Given the description of an element on the screen output the (x, y) to click on. 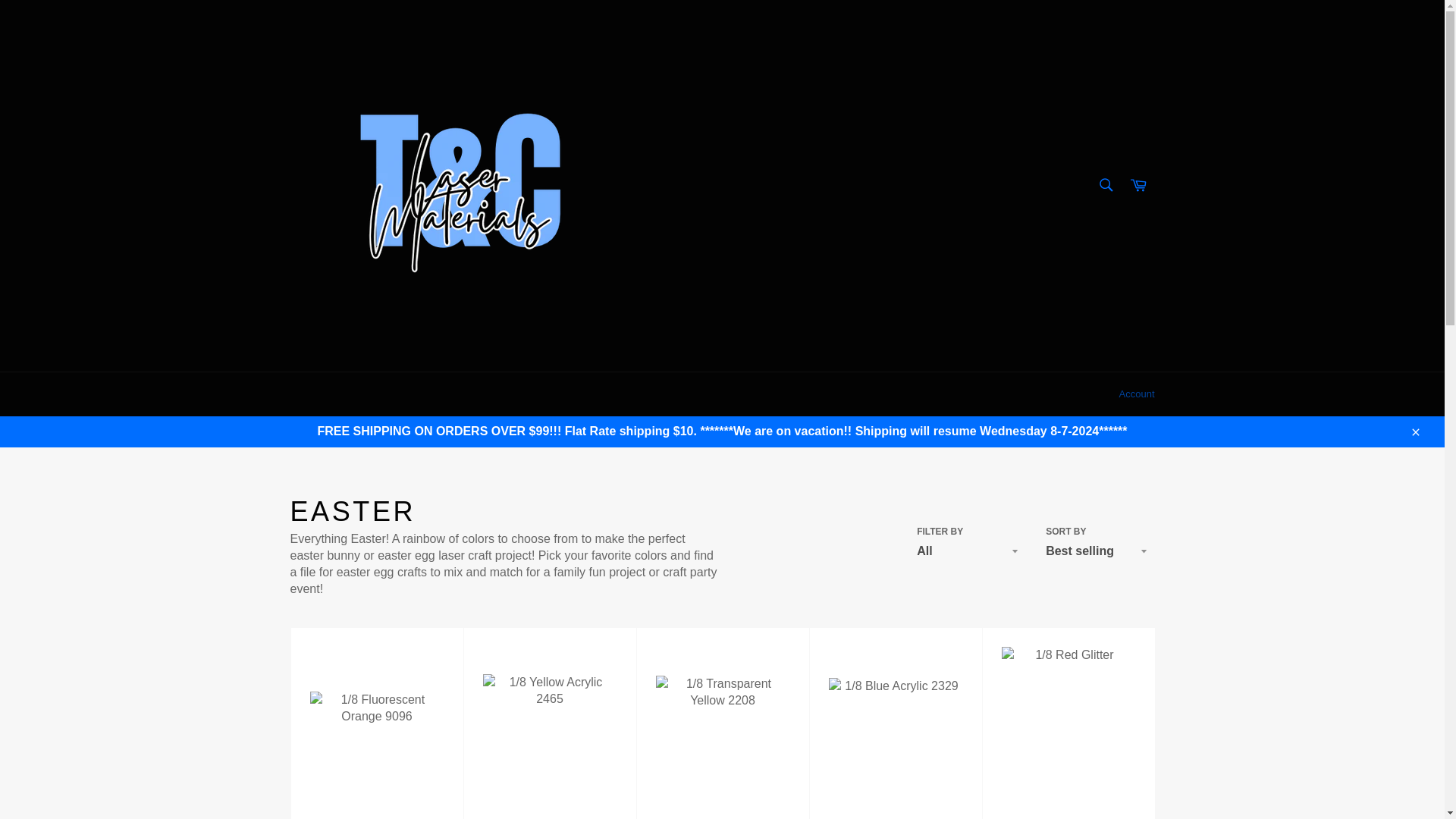
Account (1136, 394)
Cart (1138, 185)
Search (1104, 183)
Close (1414, 431)
